Given the description of an element on the screen output the (x, y) to click on. 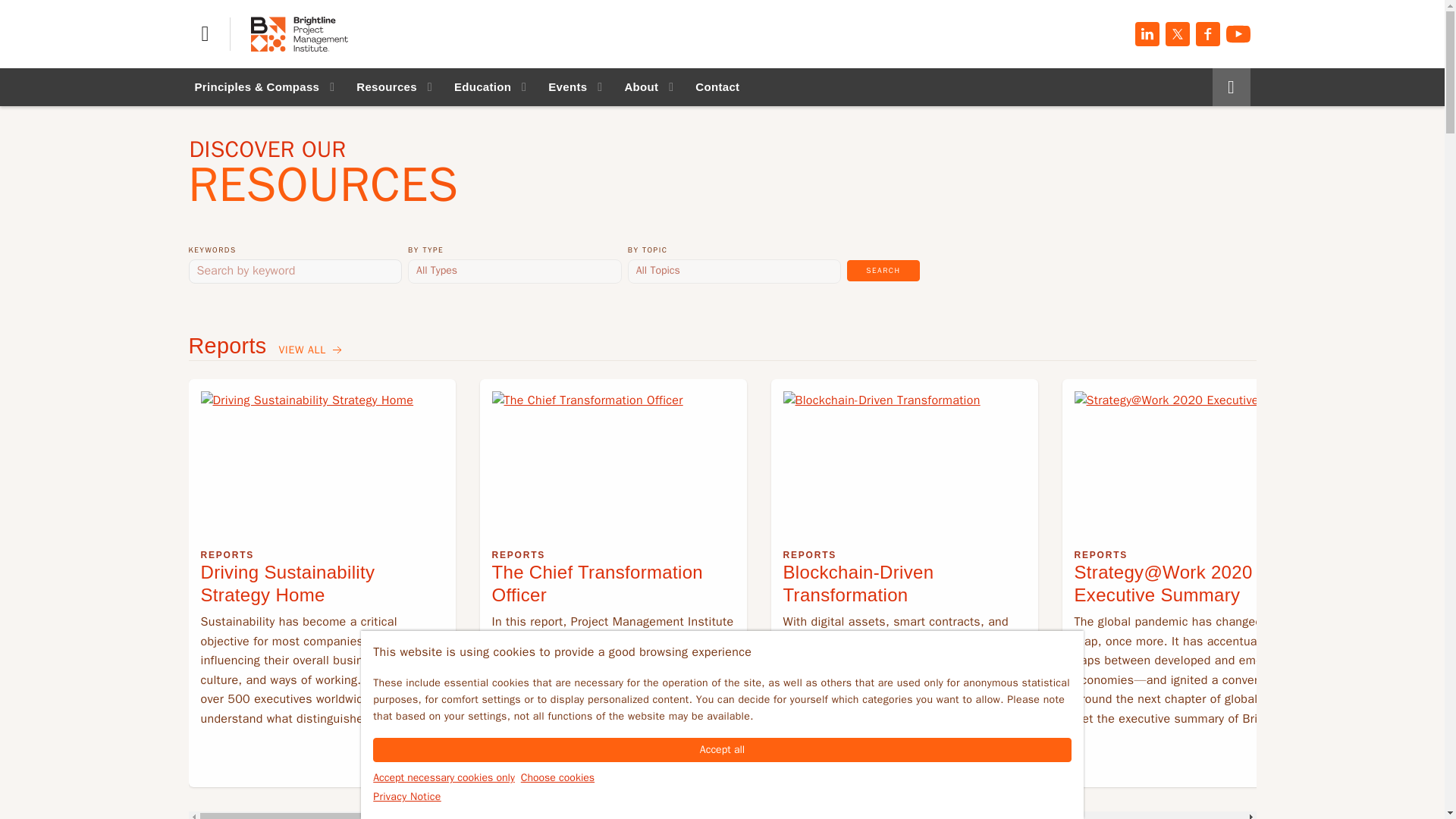
Follow us on Facebook (1207, 33)
View all Reports (312, 350)
Go to our Youtube channel (1237, 33)
Follow us on LinkedIn (1146, 33)
Privacy Notice (406, 796)
Follow us on X (1176, 33)
